Given the description of an element on the screen output the (x, y) to click on. 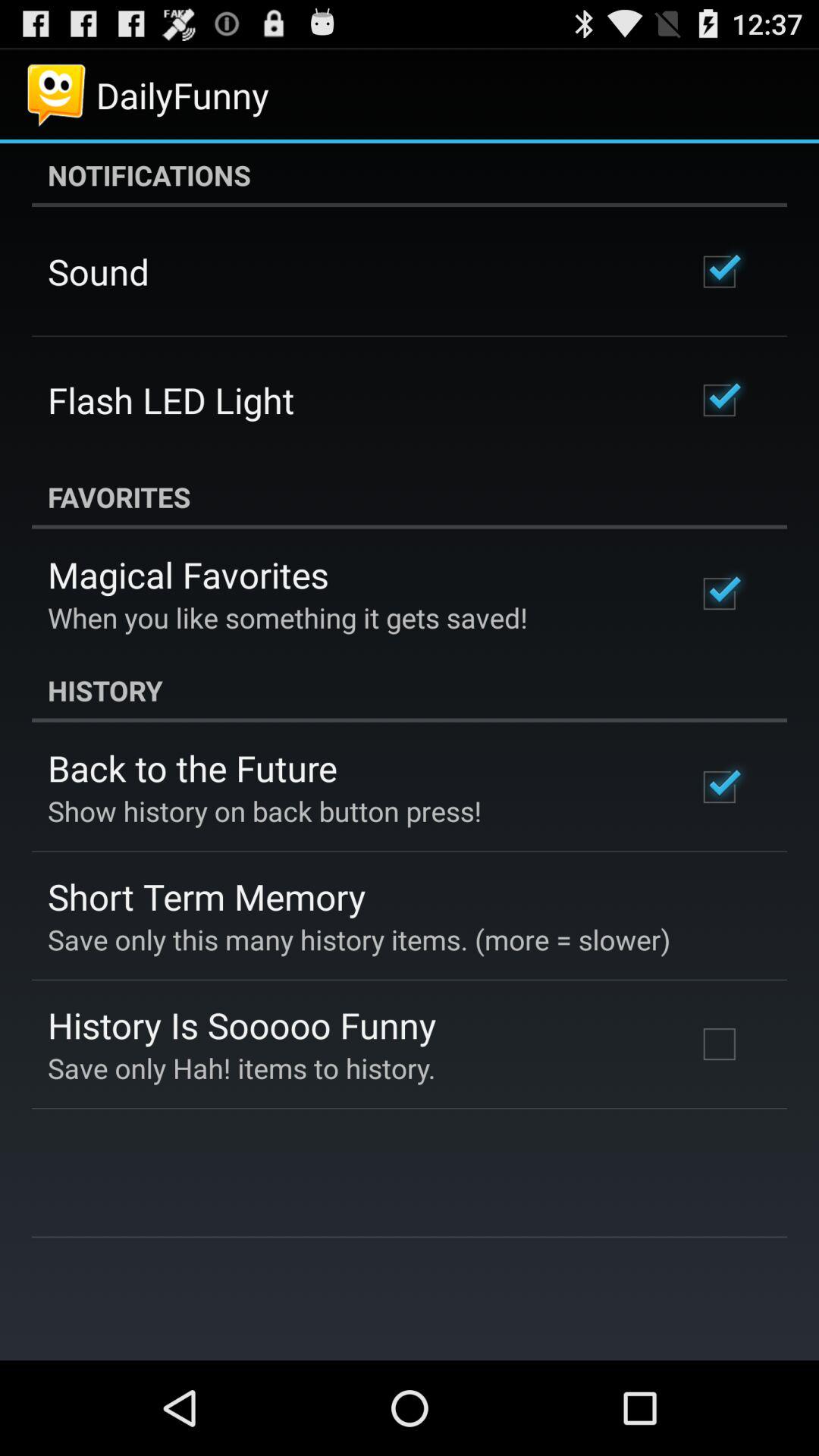
scroll until the sound app (98, 271)
